Given the description of an element on the screen output the (x, y) to click on. 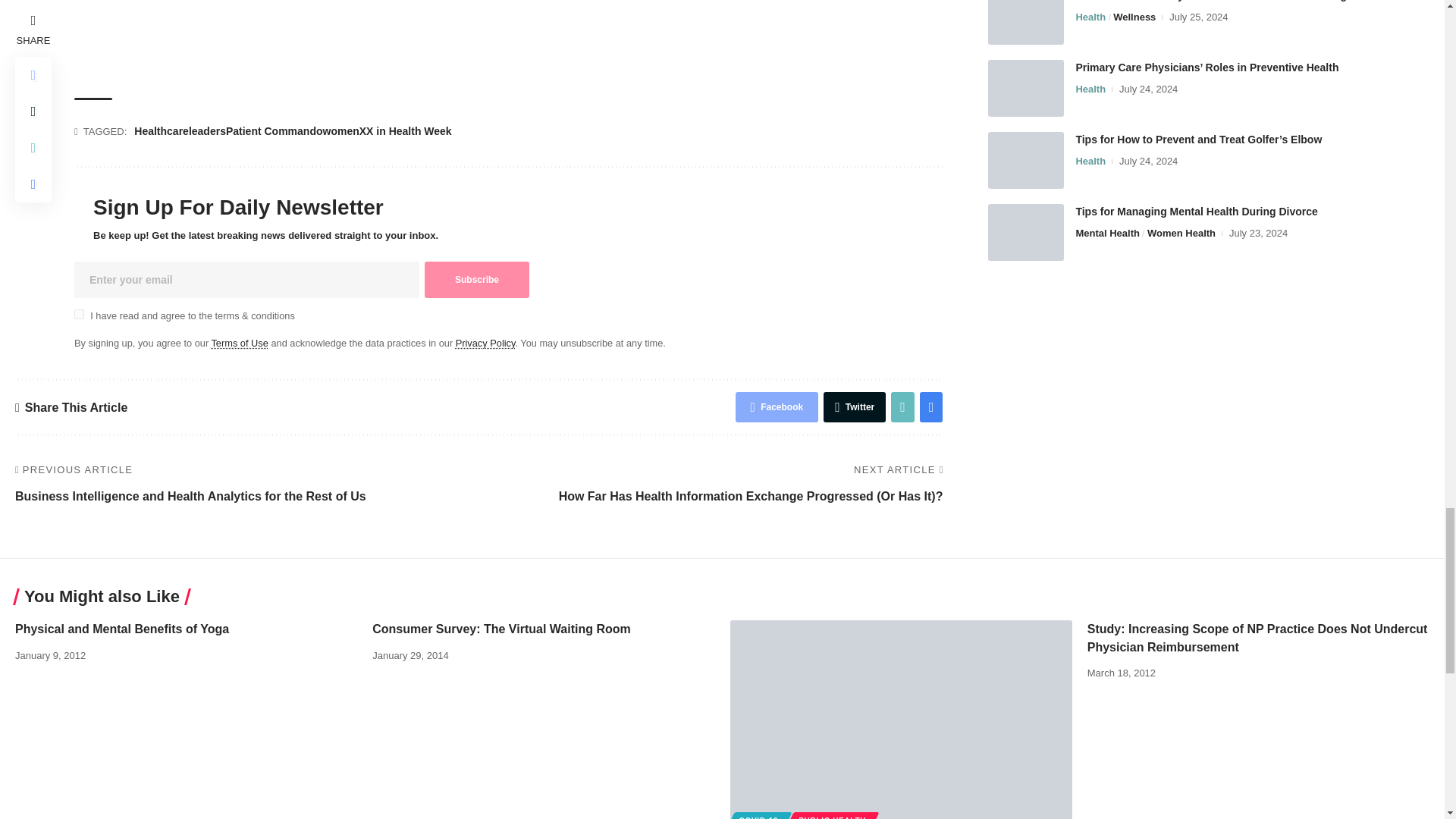
Subscribe (477, 279)
1 (79, 314)
